Given the description of an element on the screen output the (x, y) to click on. 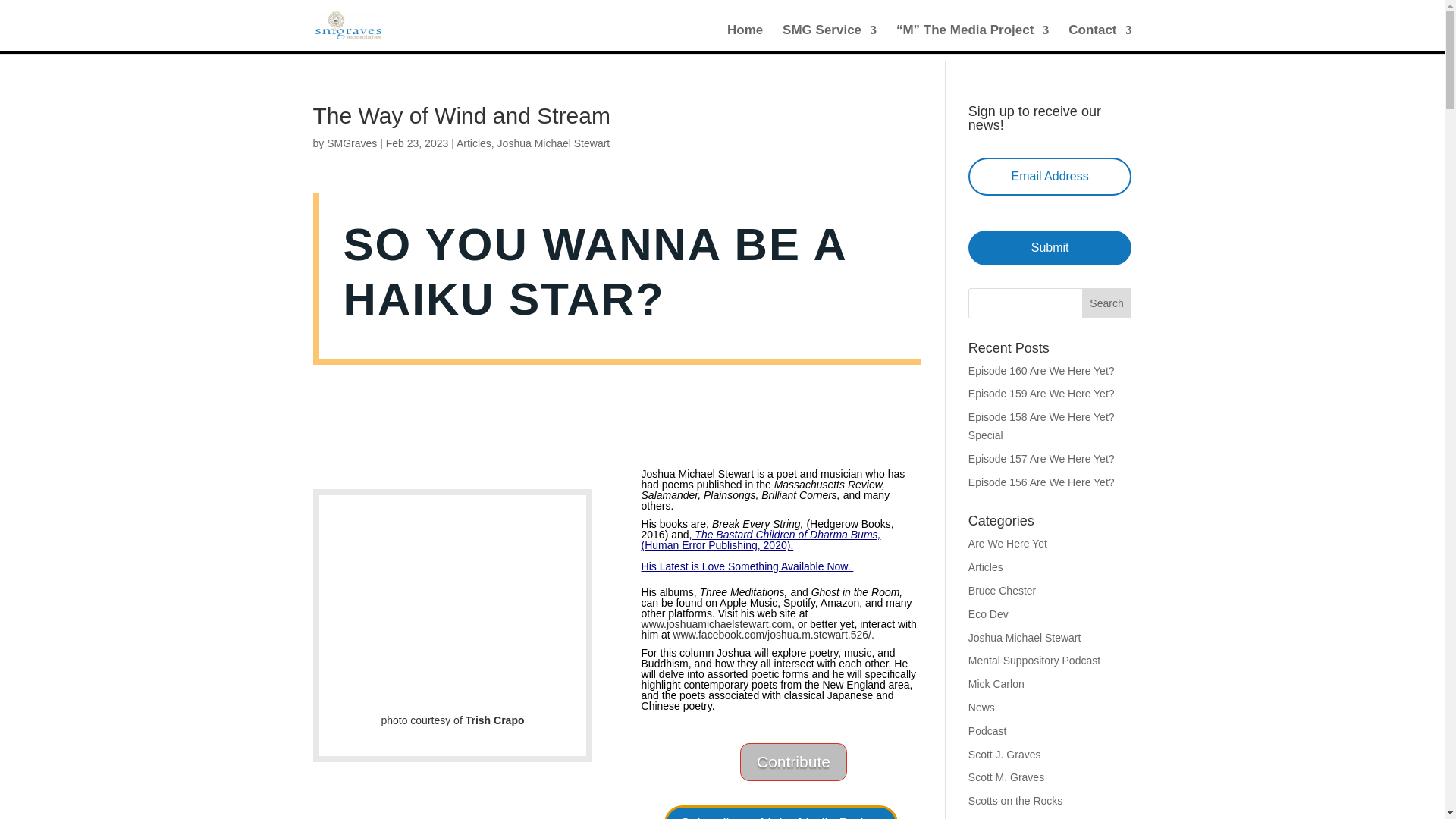
His Latest is Love Something Available Now.  (747, 566)
SMG Service (829, 37)
Contribute (793, 761)
Posts by SMGraves (351, 143)
Articles (474, 143)
Subscribe to M the Media Project (779, 812)
Search (1106, 303)
Home (744, 37)
Contact (1099, 37)
SMGraves (351, 143)
